Given the description of an element on the screen output the (x, y) to click on. 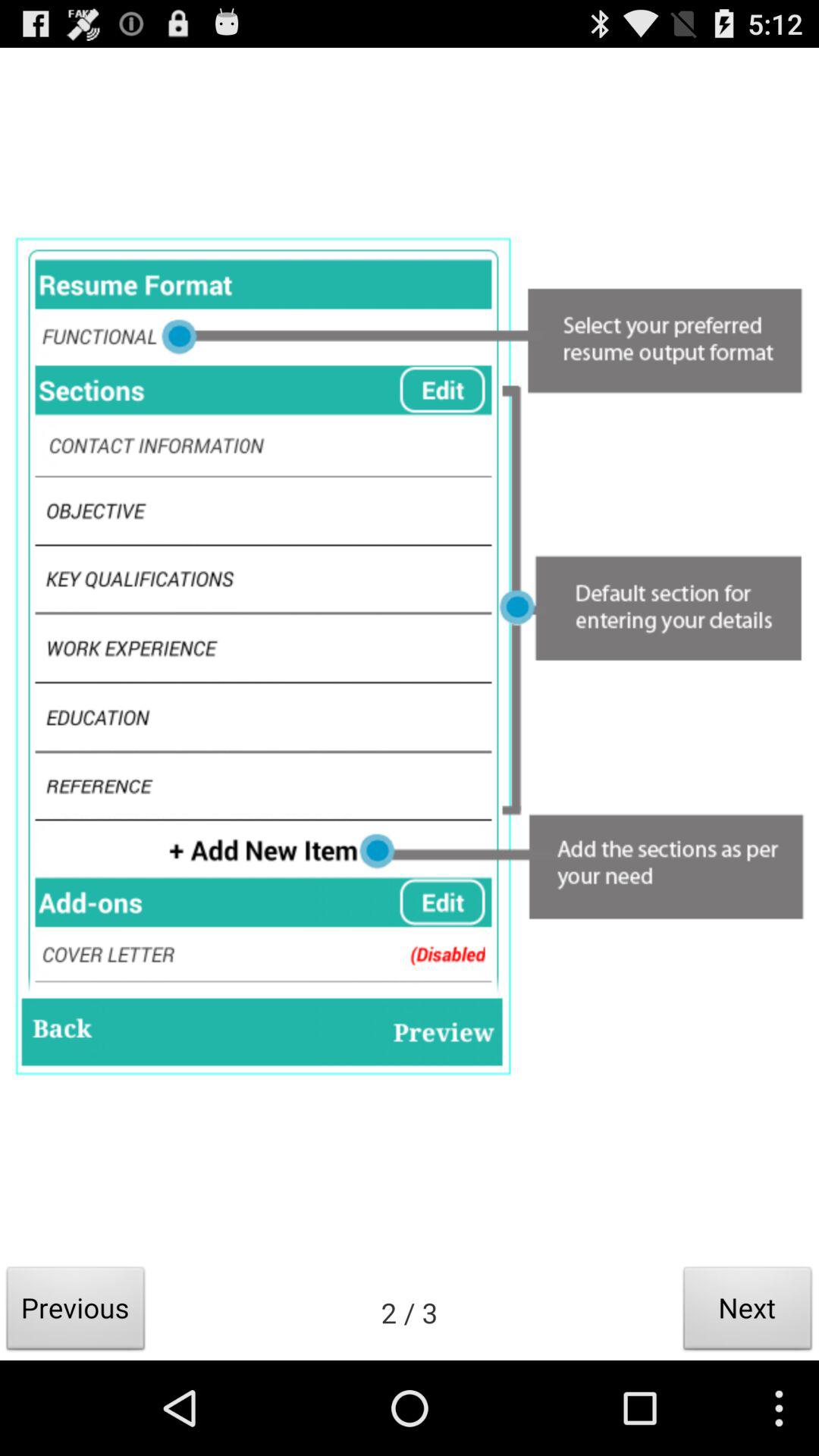
tap icon next to the 2 / 3 (747, 1312)
